Given the description of an element on the screen output the (x, y) to click on. 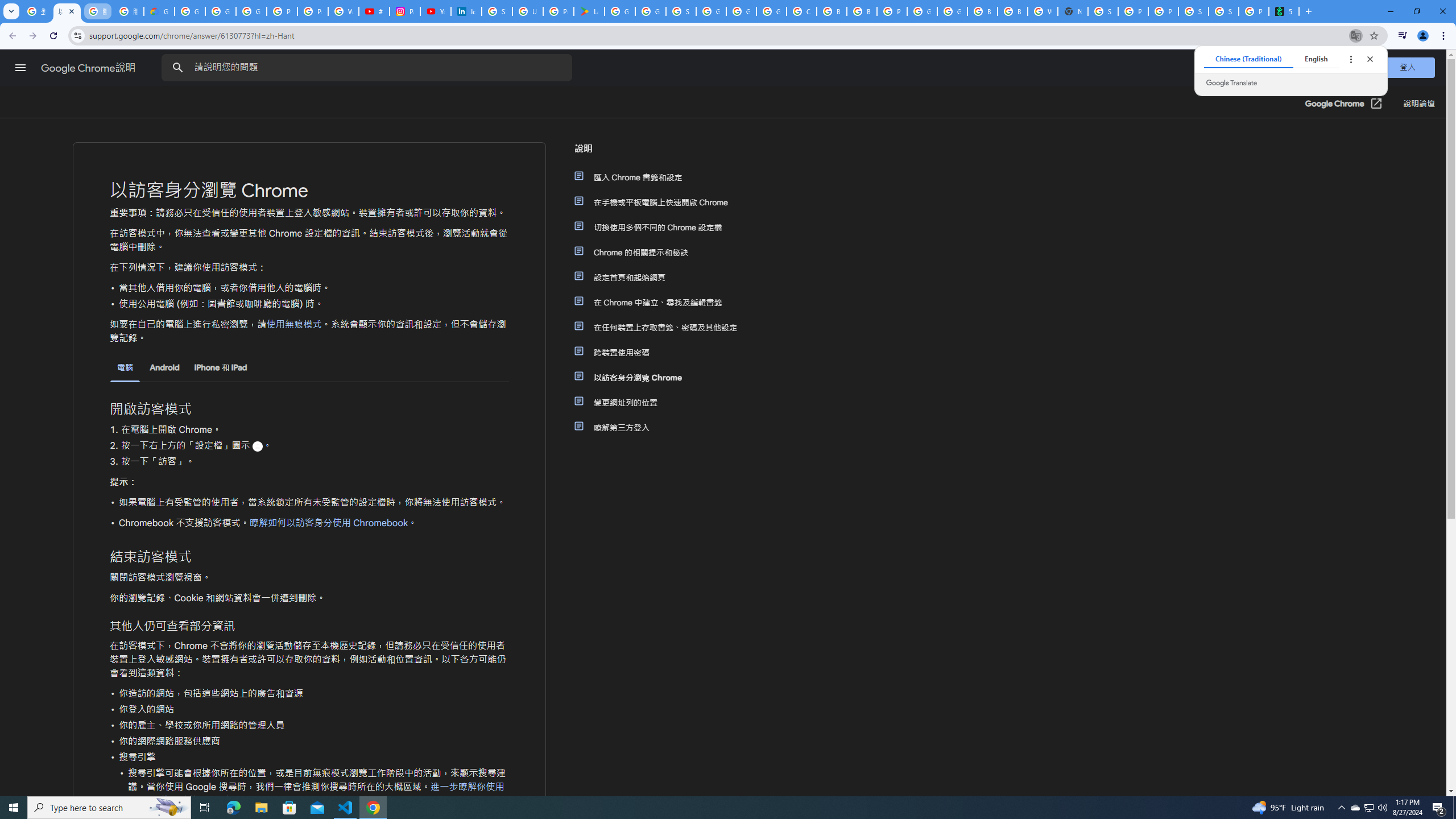
Google Cloud Platform (922, 11)
Chinese (Traditional) (1248, 58)
Privacy Help Center - Policies Help (312, 11)
